Given the description of an element on the screen output the (x, y) to click on. 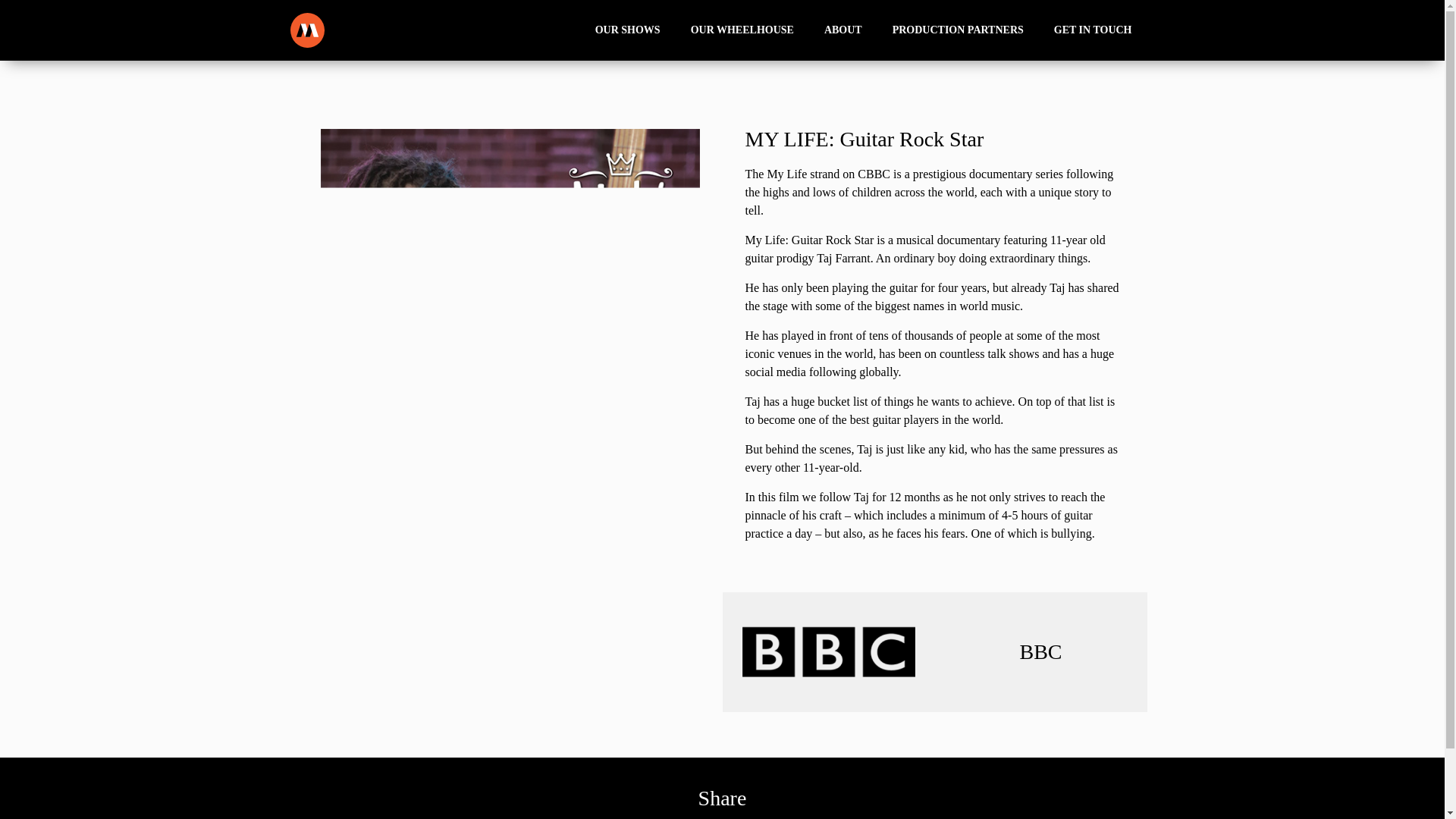
OUR SHOWS (627, 30)
OUR WHEELHOUSE (742, 30)
ABOUT (843, 30)
PRODUCTION PARTNERS (958, 30)
GET IN TOUCH (1093, 30)
bbc (827, 652)
